Given the description of an element on the screen output the (x, y) to click on. 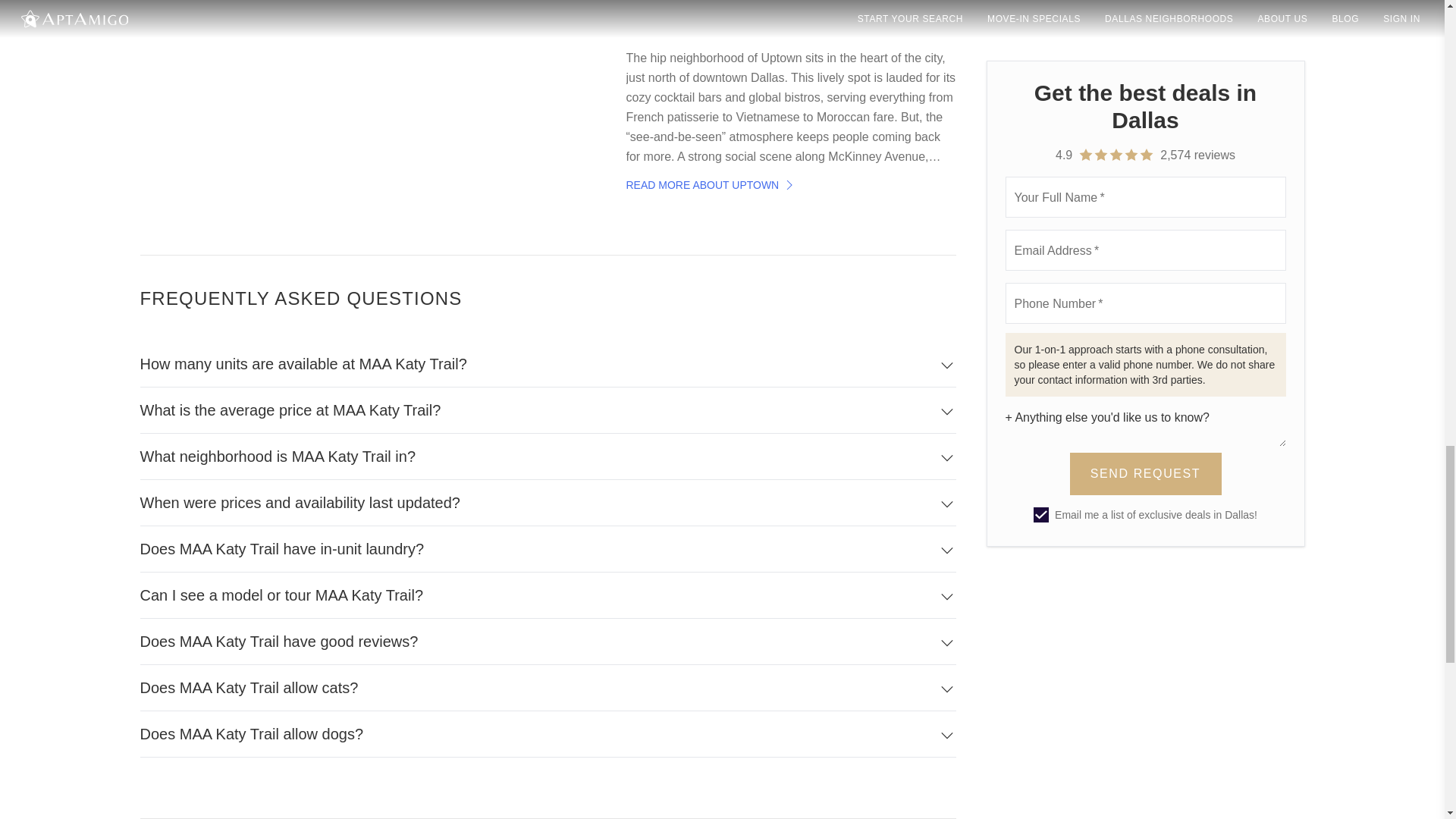
Does MAA Katy Trail have good reviews? (547, 642)
When were prices and availability last updated? (547, 502)
Does MAA Katy Trail allow cats? (547, 688)
Does MAA Katy Trail have in-unit laundry? (547, 549)
How many units are available at MAA Katy Trail? (547, 364)
Does MAA Katy Trail allow dogs? (547, 734)
READ MORE ABOUT UPTOWN  (711, 184)
What neighborhood is MAA Katy Trail in? (547, 456)
Can I see a model or tour MAA Katy Trail? (547, 595)
What is the average price at MAA Katy Trail? (547, 410)
